Given the description of an element on the screen output the (x, y) to click on. 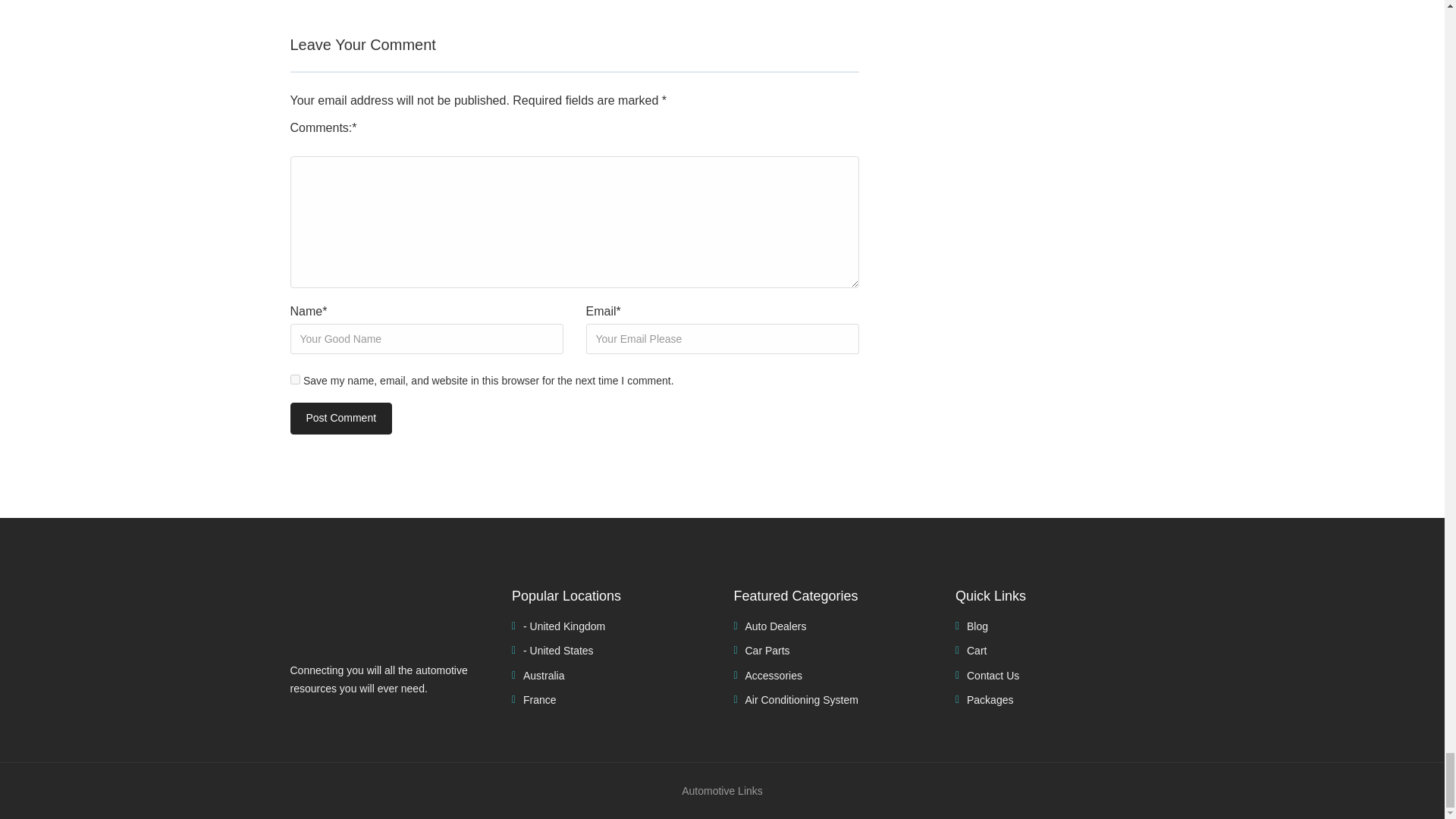
yes (294, 379)
Post Comment (340, 418)
